Given the description of an element on the screen output the (x, y) to click on. 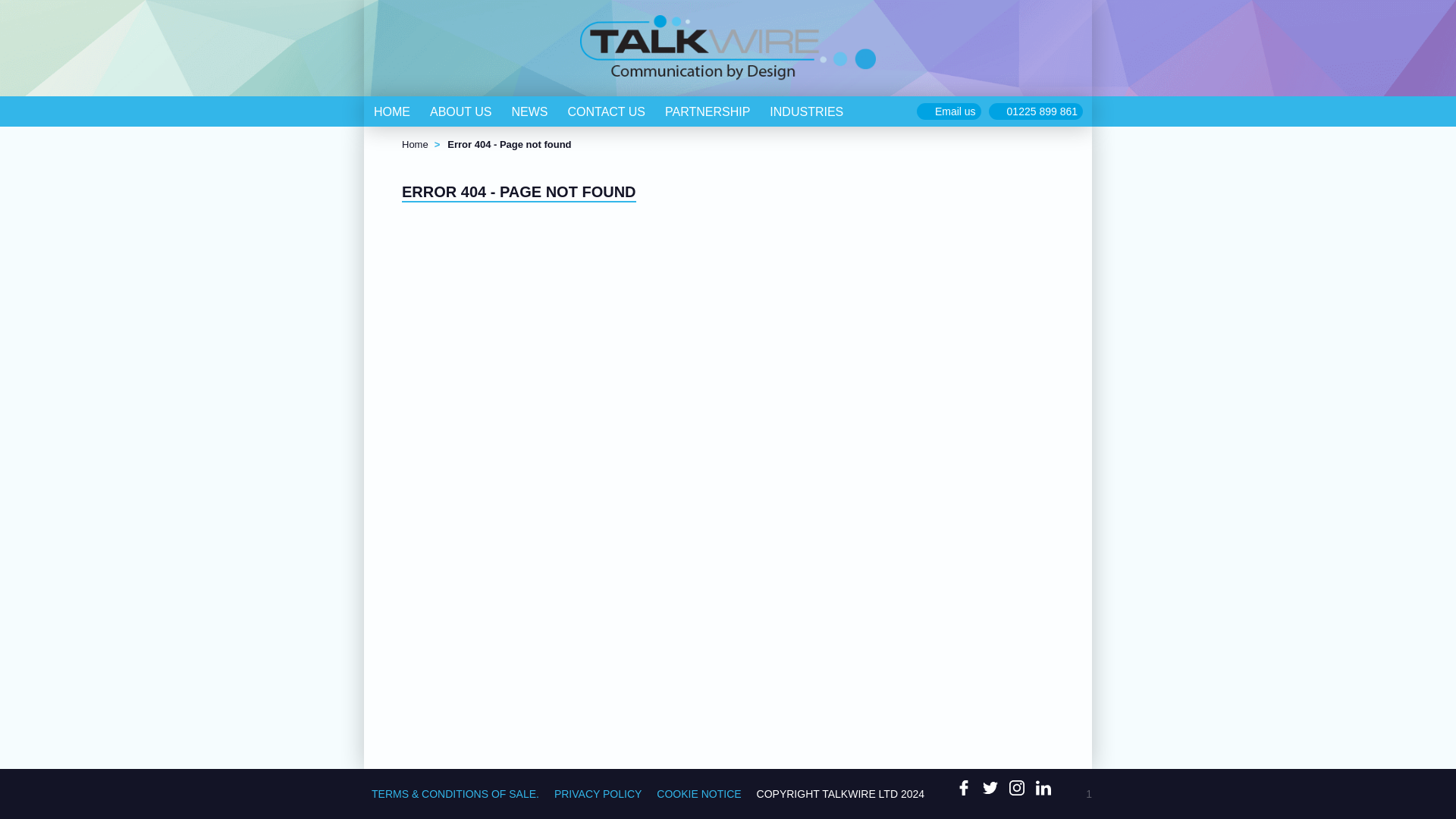
01225 899 861 (1042, 111)
PRIVACY POLICY (598, 793)
COOKIE NOTICE (698, 793)
HOME (392, 111)
INDUSTRIES (806, 111)
ABOUT US (461, 111)
Home (414, 143)
Email us (954, 111)
PARTNERSHIP (707, 111)
NEWS (529, 111)
